Given the description of an element on the screen output the (x, y) to click on. 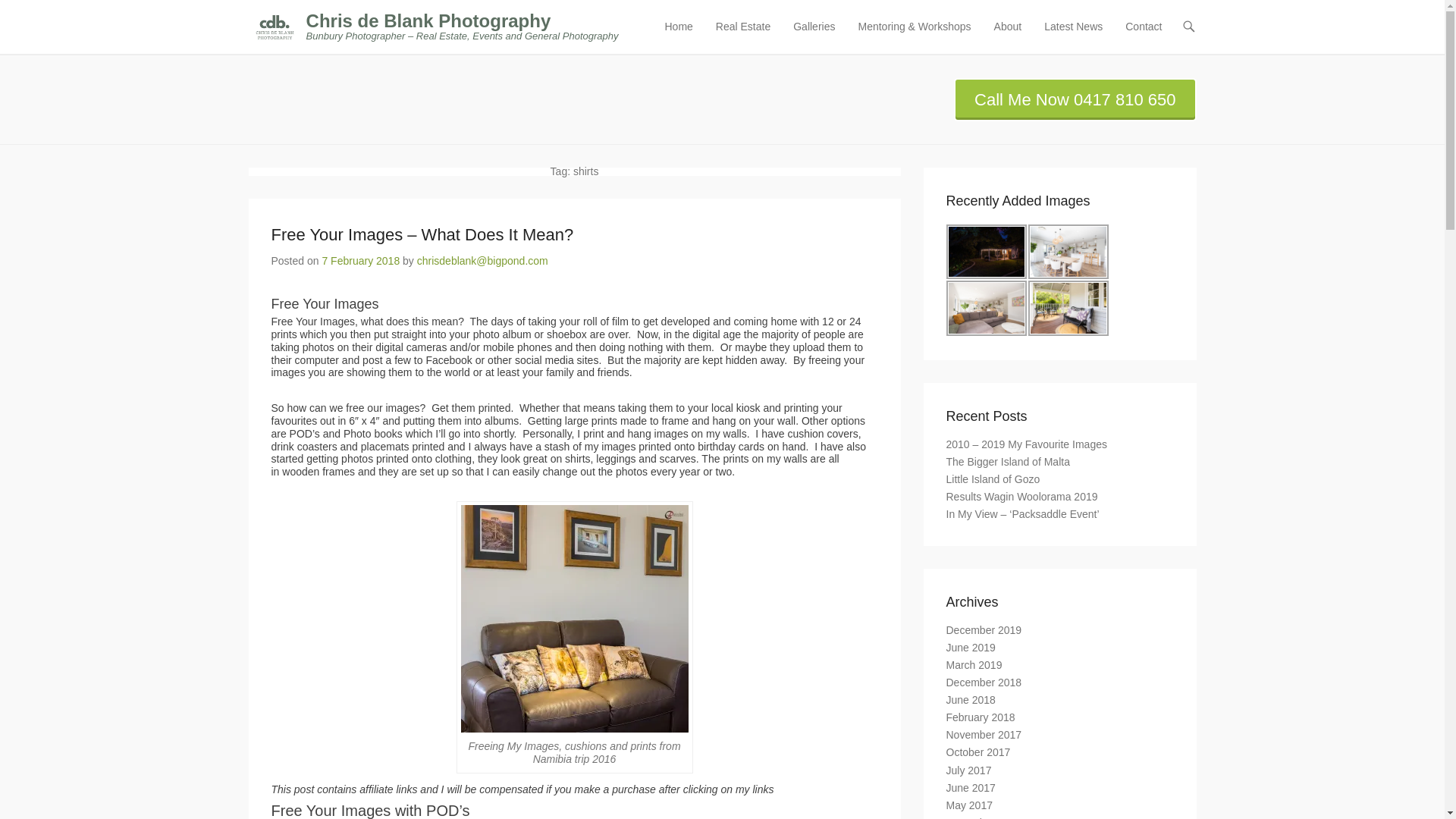
46 Capel St Kirup 2nd (986, 252)
About (1008, 35)
8:19 pm (359, 260)
Chris de Blank Photography (428, 20)
Galleries (814, 35)
Home (678, 35)
Skip to content (691, 27)
39 Star St Treendale (1067, 252)
Skip to content (691, 27)
Real Estate (742, 35)
Contact (1143, 35)
Chris de Blank Photography (428, 20)
Latest News (1072, 35)
